Given the description of an element on the screen output the (x, y) to click on. 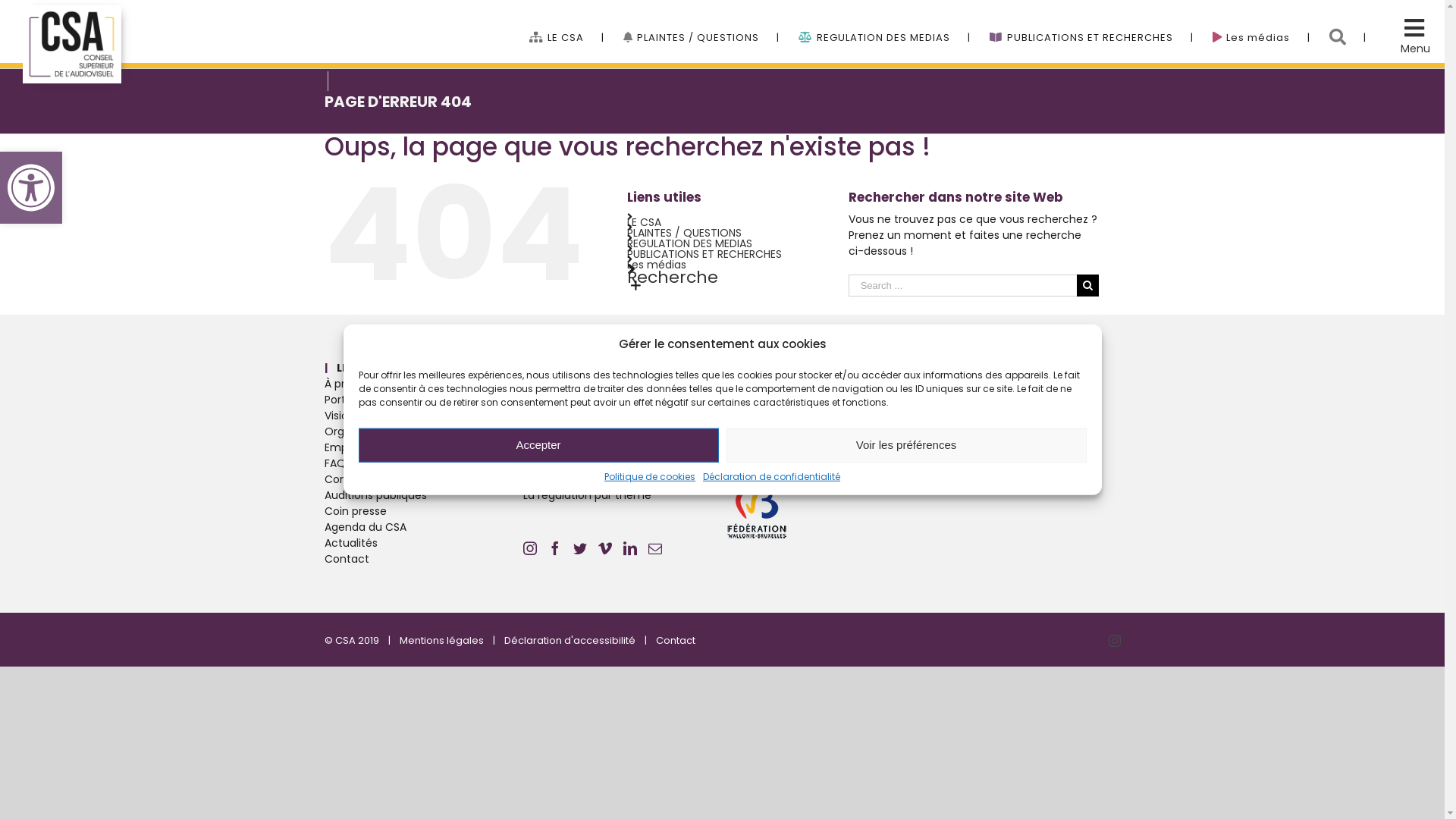
Organigramme Element type: text (424, 431)
Contact Element type: text (674, 640)
Recherche Element type: text (671, 276)
Auditions publiques Element type: text (424, 495)
Emploi Element type: text (424, 447)
PLAINTES / QUESTIONS Element type: text (701, 22)
LE CSA Element type: text (566, 22)
Bilans Element type: text (622, 431)
Regulation du secteur Element type: text (622, 384)
Accepter Element type: text (537, 444)
REGULATION DES MEDIAS Element type: text (688, 243)
Menu Element type: text (1415, 48)
Recommandations Element type: text (622, 463)
Menu Cache Element type: hover (1412, 32)
Porter plainte Element type: text (424, 399)
Agenda du CSA Element type: text (424, 527)
FAQ Element type: text (424, 463)
PUBLICATIONS ET RECHERCHES Element type: text (1090, 22)
LE CSA Element type: text (643, 221)
PUBLICATIONS ET RECHERCHES Element type: text (703, 253)
Consultations publiques Element type: text (424, 479)
Instagram Element type: text (1114, 640)
Politique de cookies Element type: text (649, 476)
Skip to content Element type: text (0, 0)
Vision Mission et valeurs Element type: text (424, 415)
Publications du CSA Element type: text (821, 399)
Chercher un document Element type: text (622, 399)
Coin presse Element type: text (424, 511)
Bouton de recherche Element type: hover (1347, 22)
Radios Element type: text (1020, 399)
REGULATION DES MEDIAS Element type: text (884, 22)
Contact Element type: text (424, 559)
PLAINTES / QUESTIONS Element type: text (683, 232)
